Given the description of an element on the screen output the (x, y) to click on. 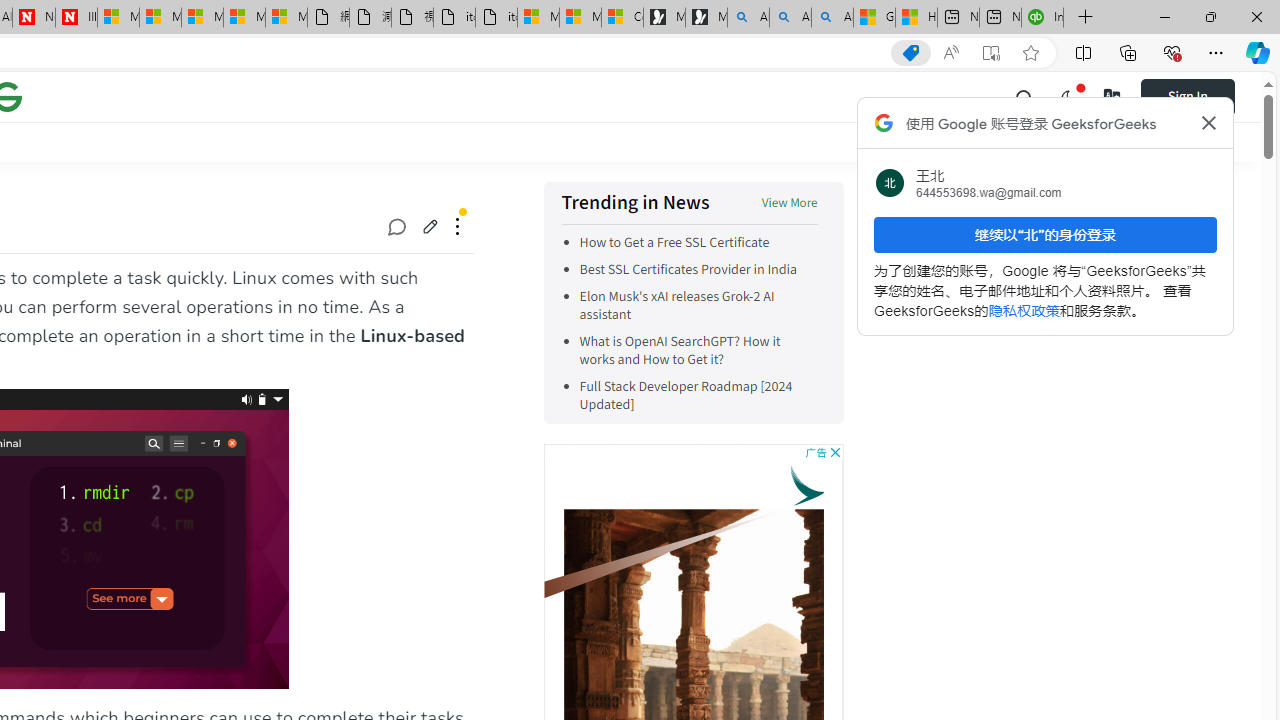
Full Stack Developer Roadmap [2024 Updated] (685, 395)
What is OpenAI SearchGPT? How it works and How to Get it? (679, 350)
Intuit QuickBooks Online - Quickbooks (1042, 17)
toggle theme (1067, 96)
AutomationID: cbb (834, 452)
View More (789, 203)
